Given the description of an element on the screen output the (x, y) to click on. 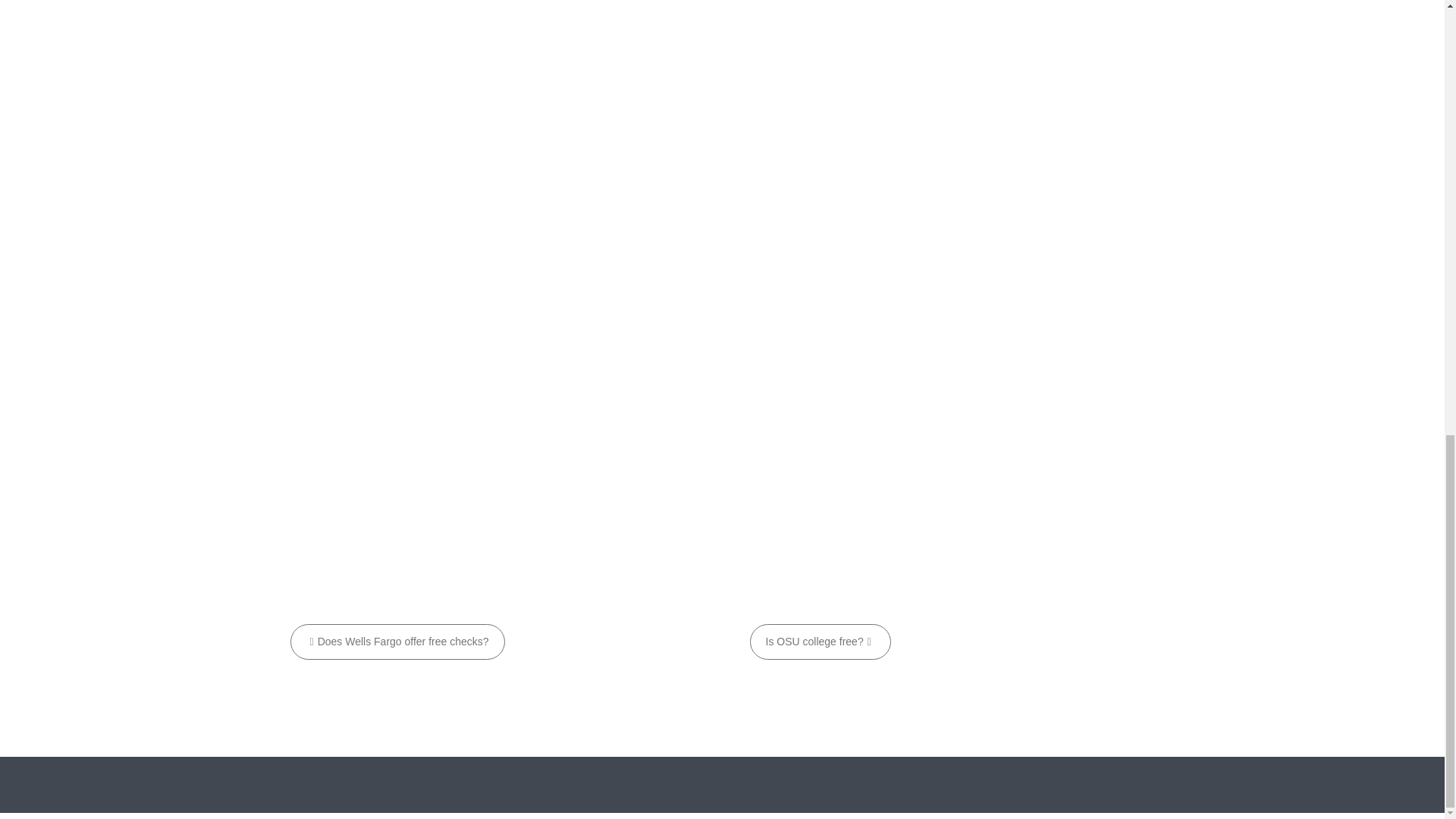
Does Wells Fargo offer free checks? (396, 642)
Is OSU college free? (819, 642)
